Given the description of an element on the screen output the (x, y) to click on. 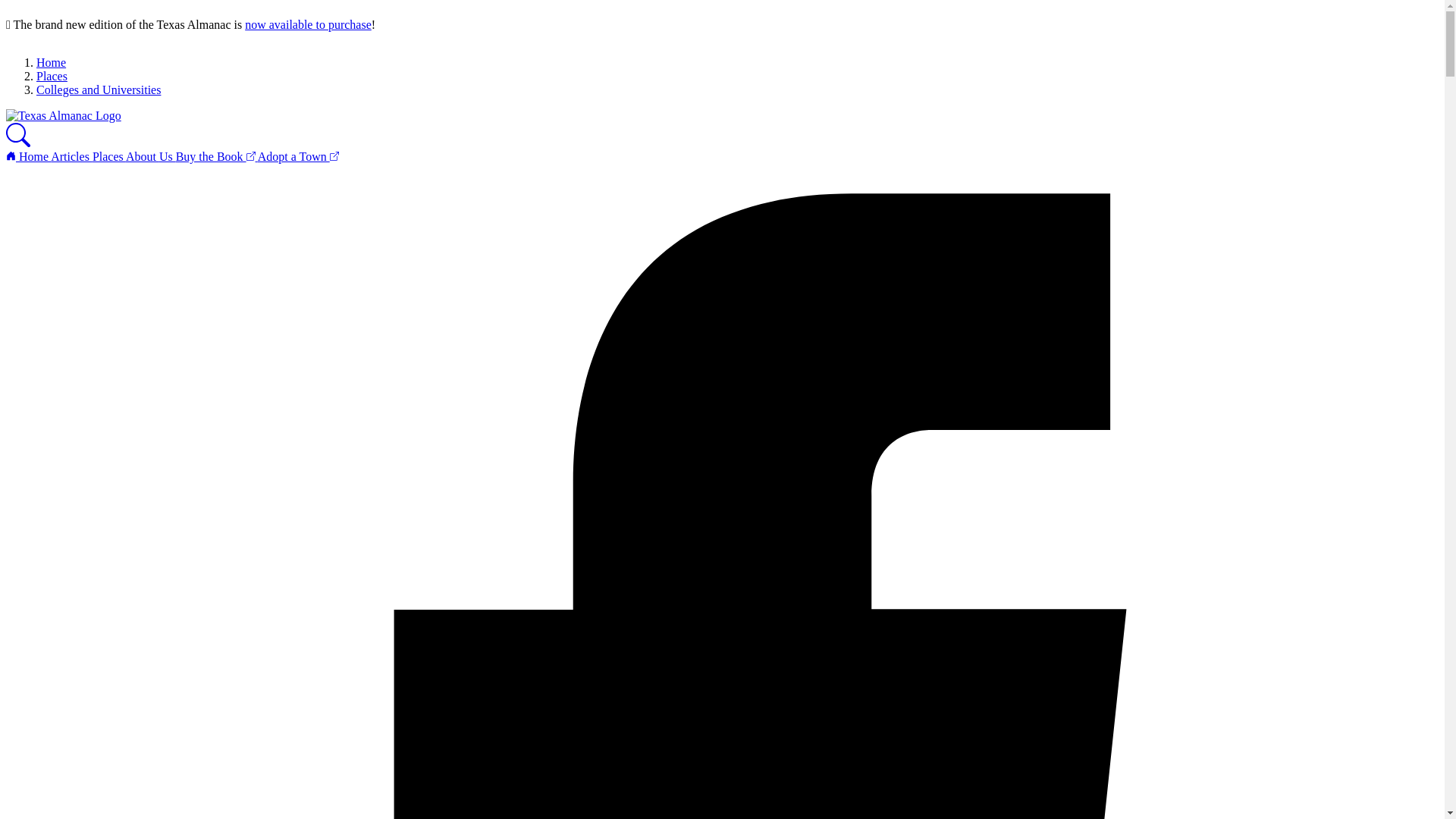
now available to purchase (307, 24)
Articles (71, 155)
Home (27, 155)
Adopt a Town (298, 155)
Home (50, 62)
Buy the Book (216, 155)
Places (51, 75)
About Us (150, 155)
Colleges and Universities (98, 89)
Places (109, 155)
